Given the description of an element on the screen output the (x, y) to click on. 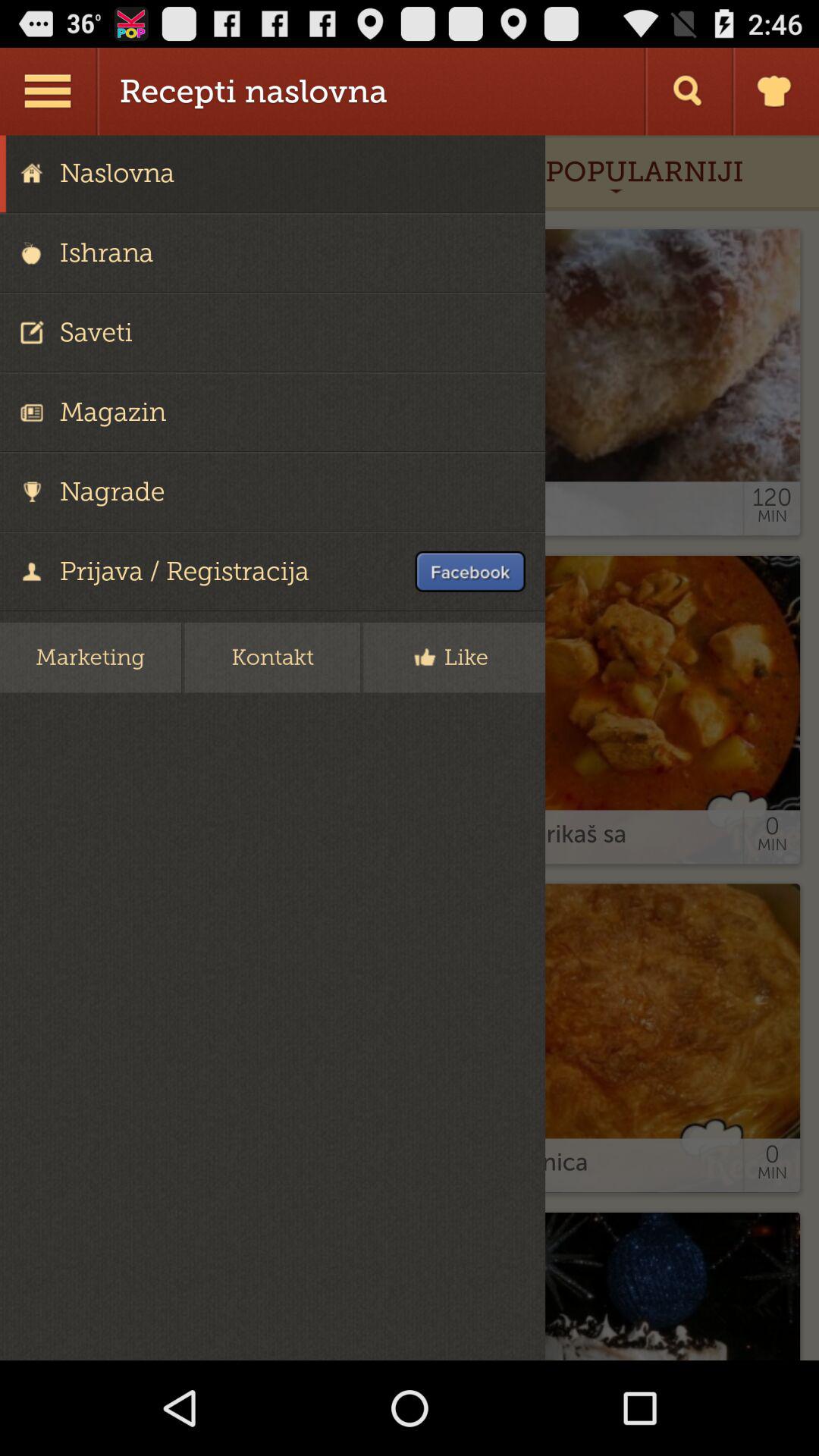
screen page (409, 747)
